Given the description of an element on the screen output the (x, y) to click on. 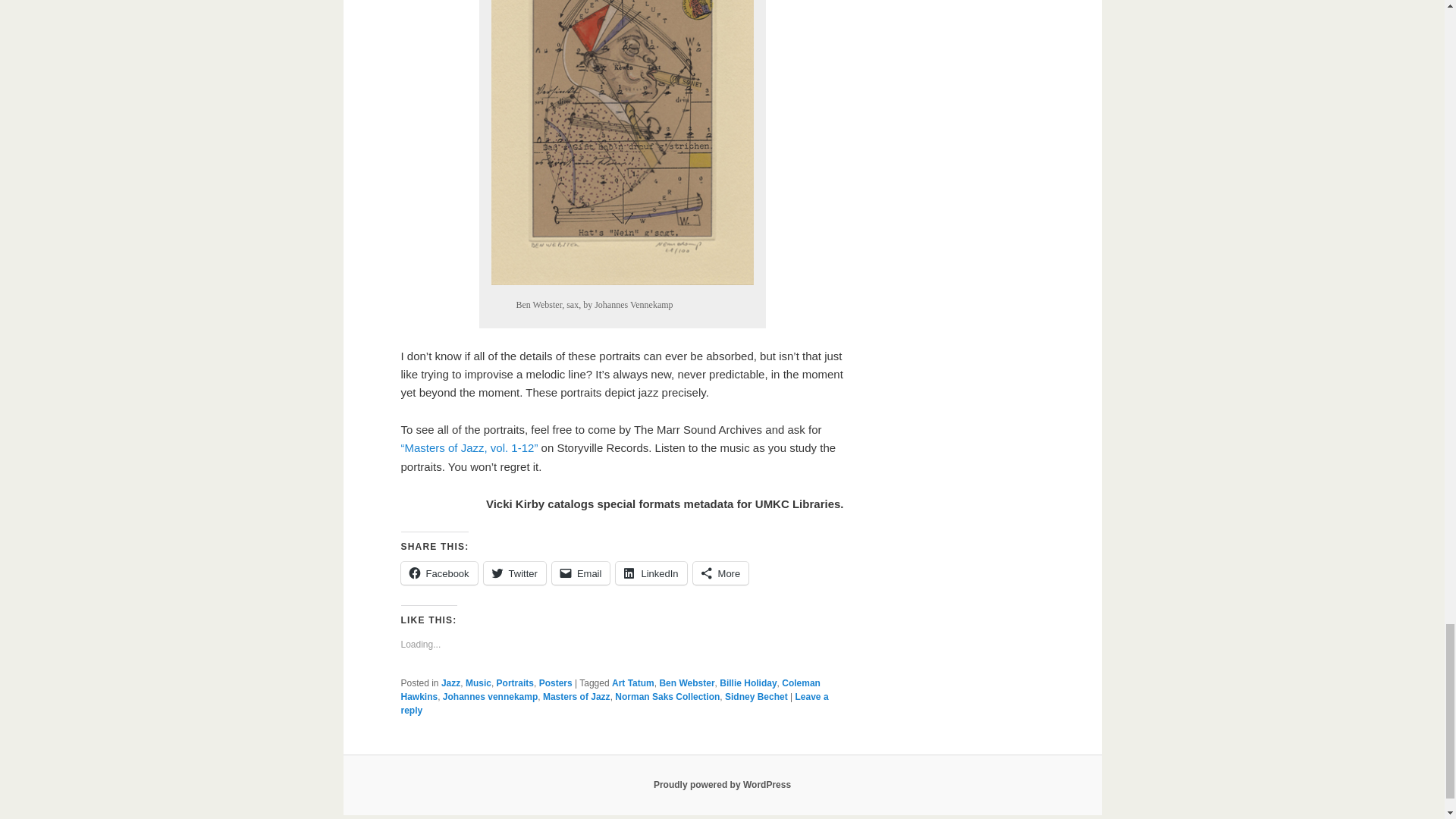
Jazz (450, 683)
Music (478, 683)
Facebook (438, 572)
Twitter (514, 572)
More (721, 572)
Click to share on LinkedIn (650, 572)
Billie Holiday (747, 683)
Click to share on Facebook (438, 572)
LinkedIn (650, 572)
Email (580, 572)
Posters (555, 683)
Coleman Hawkins (609, 689)
Click to email a link to a friend (580, 572)
Click to share on Twitter (514, 572)
Art Tatum (632, 683)
